Given the description of an element on the screen output the (x, y) to click on. 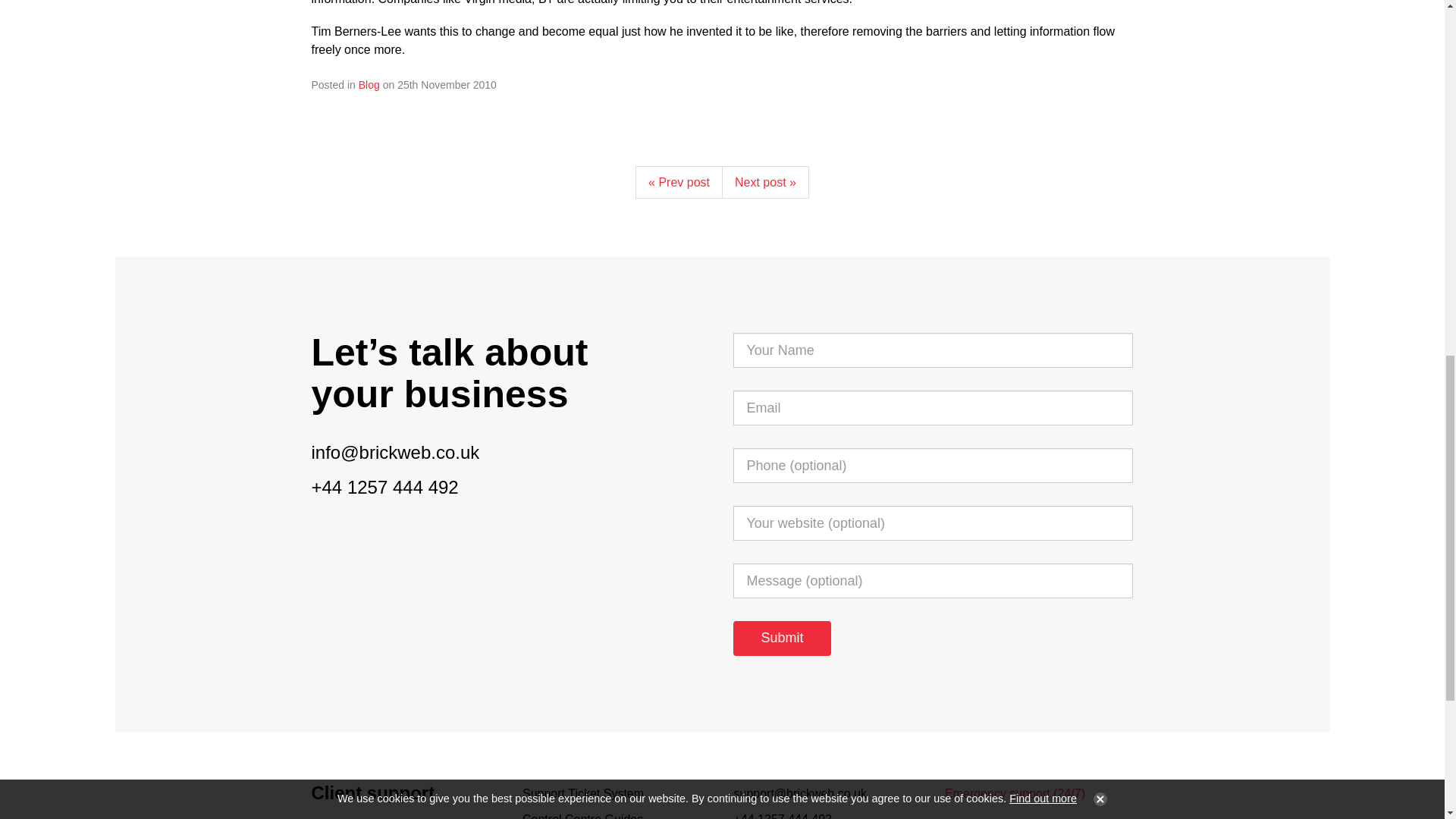
Submit (781, 638)
Blog (369, 84)
Submit (781, 638)
